Given the description of an element on the screen output the (x, y) to click on. 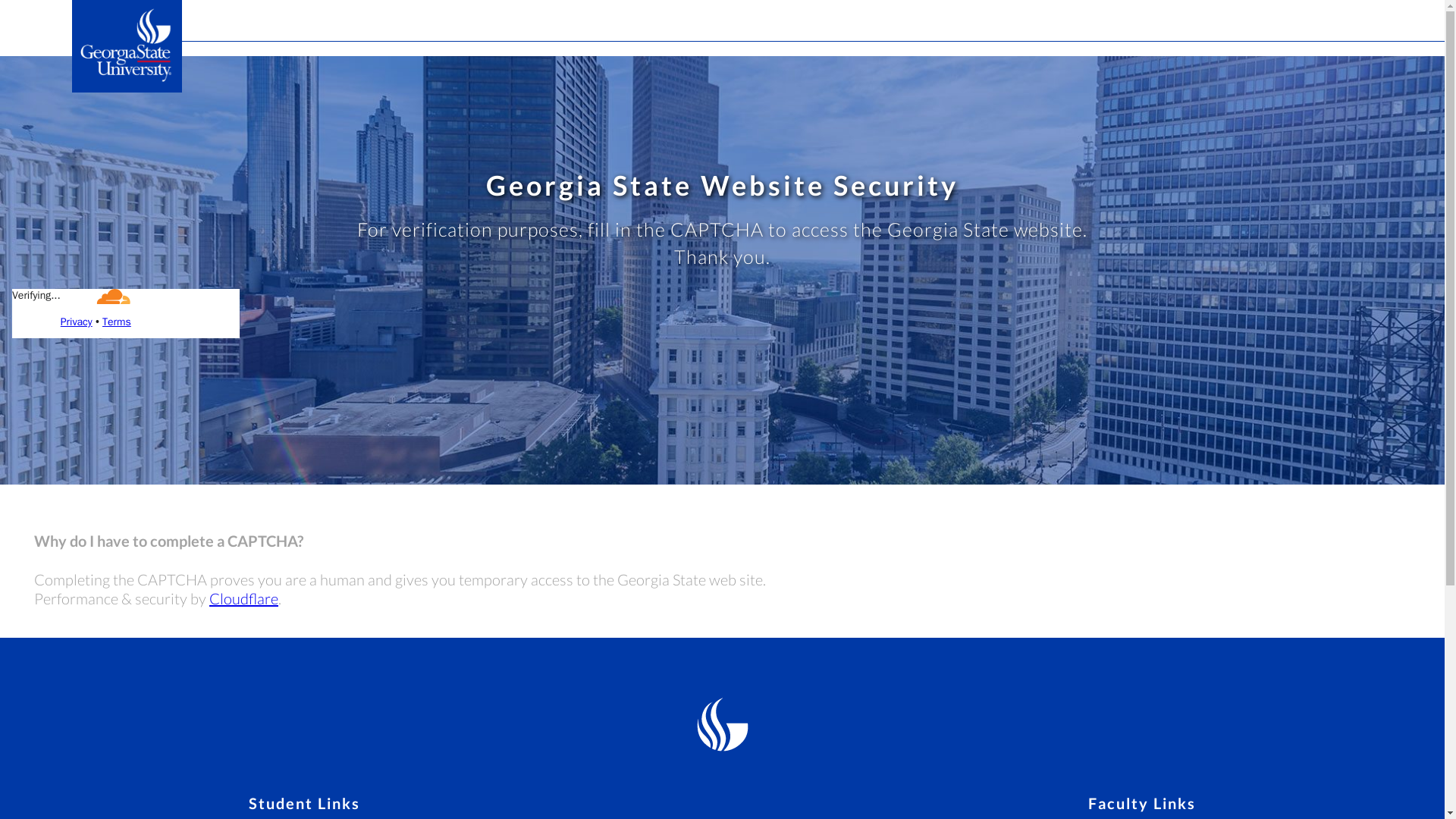
Cloudflare (243, 597)
